Given the description of an element on the screen output the (x, y) to click on. 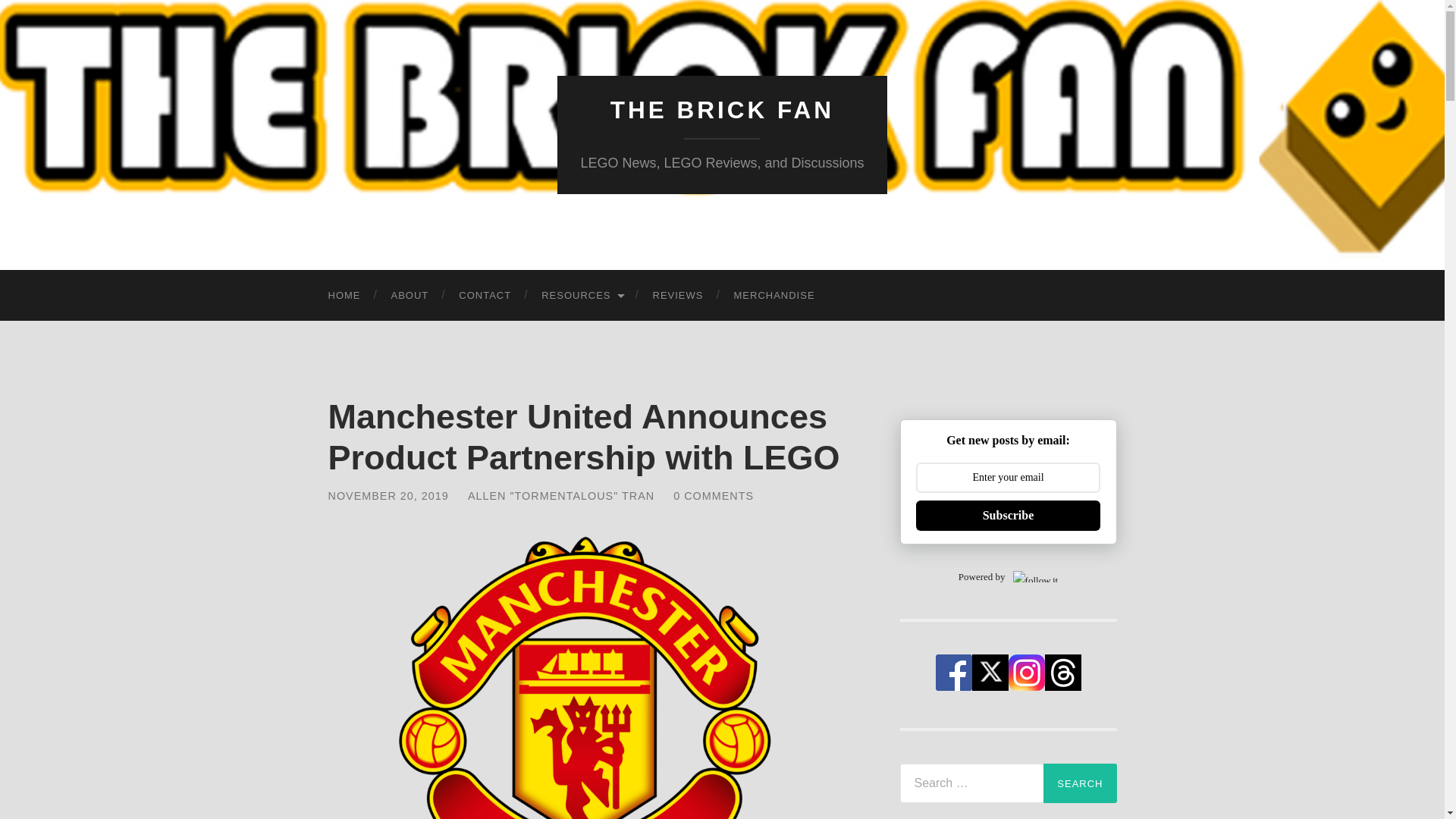
CONTACT (484, 295)
Search (1079, 783)
0 COMMENTS (713, 495)
RESOURCES (581, 295)
Posts by Allen "Tormentalous" Tran (560, 495)
ALLEN "TORMENTALOUS" TRAN (560, 495)
THE BRICK FAN (722, 109)
REVIEWS (678, 295)
ABOUT (409, 295)
MERCHANDISE (774, 295)
Search (1079, 783)
NOVEMBER 20, 2019 (387, 495)
HOME (344, 295)
